Given the description of an element on the screen output the (x, y) to click on. 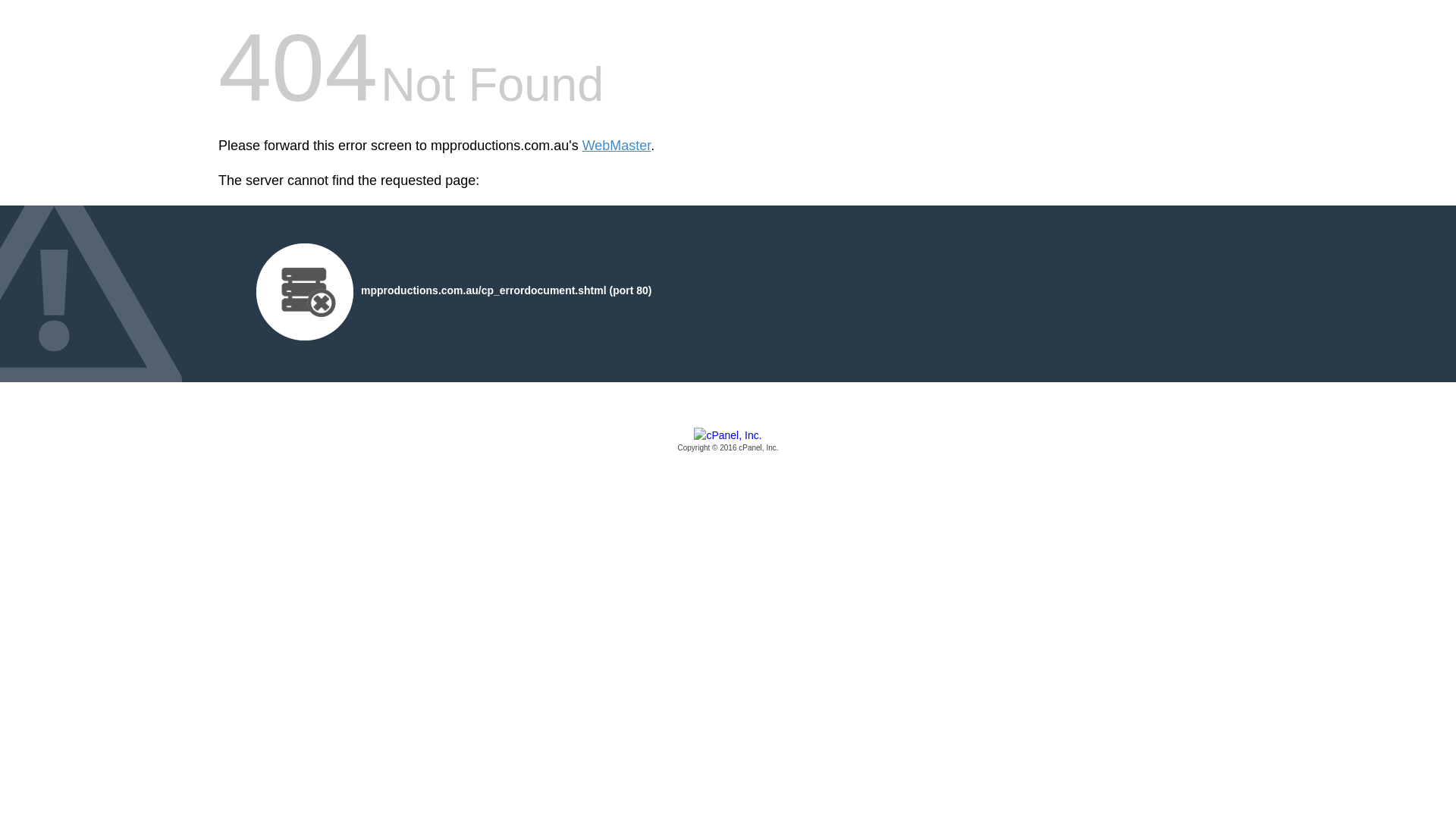
WebMaster Element type: text (616, 145)
